Given the description of an element on the screen output the (x, y) to click on. 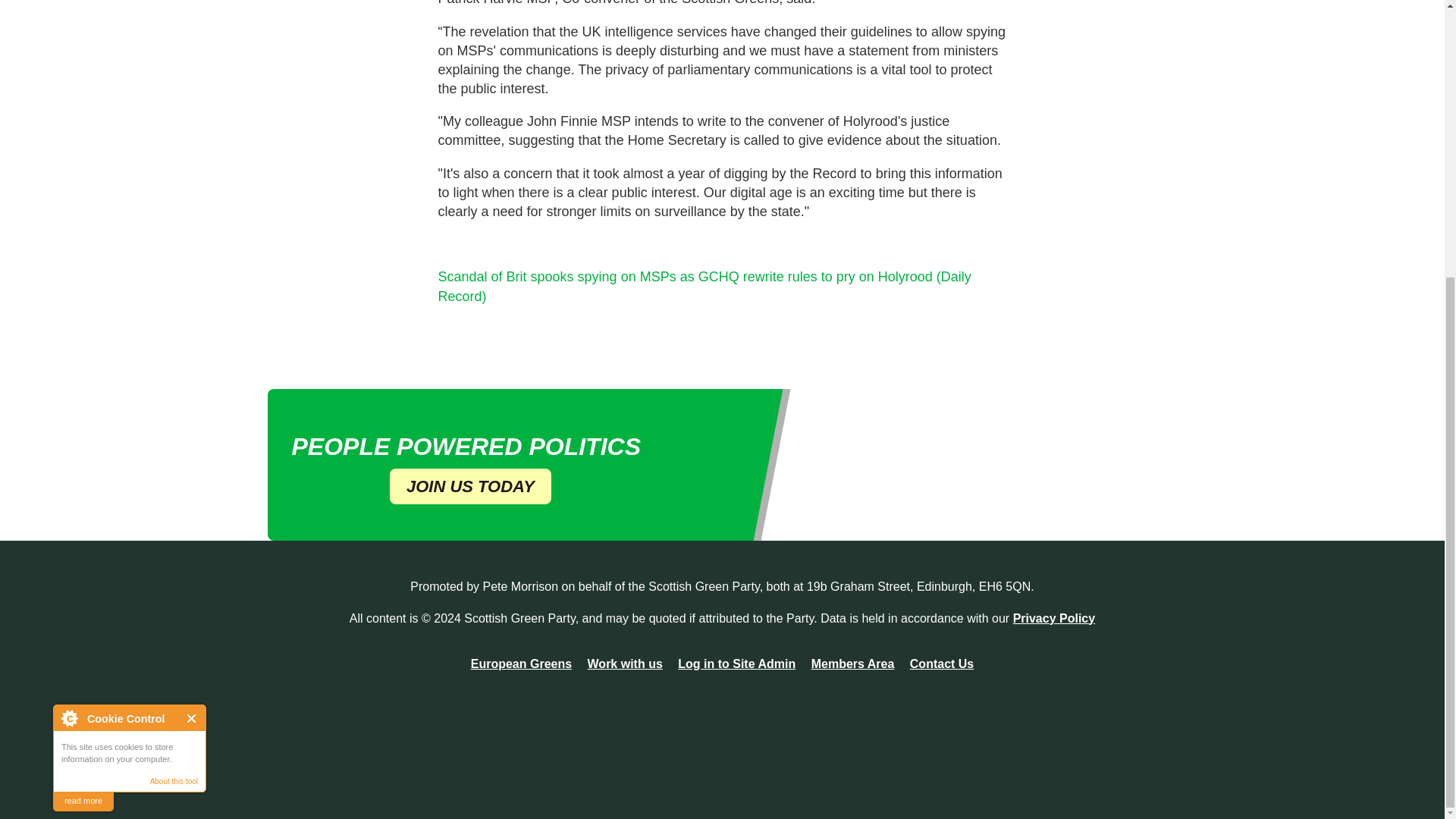
JOIN US TODAY (470, 486)
About this tool (173, 370)
About Cookie Control (68, 307)
About Cookie Control (68, 307)
Close (191, 307)
read more (82, 390)
